Given the description of an element on the screen output the (x, y) to click on. 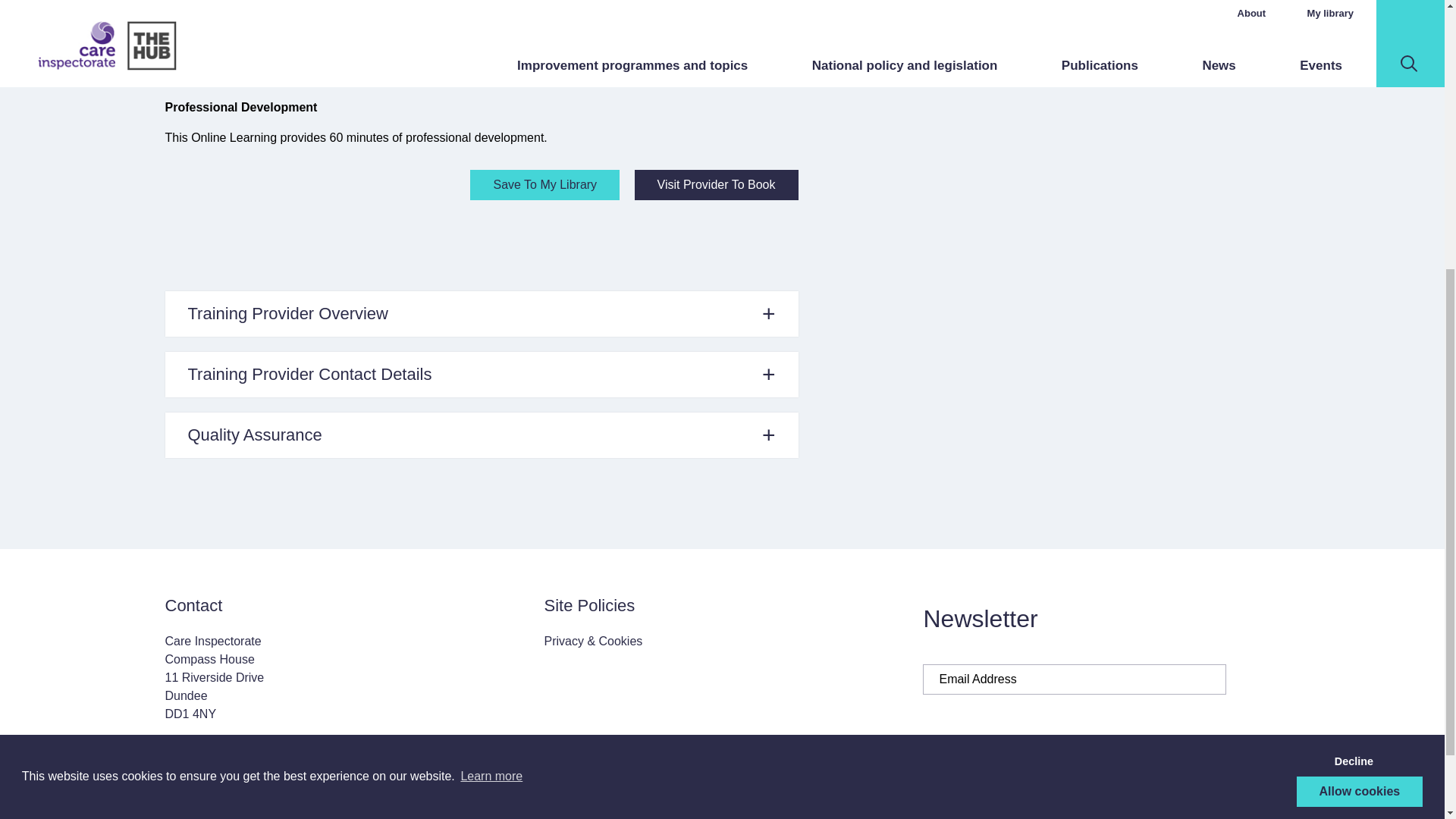
Site Policies (588, 605)
Learn more (491, 340)
Allow cookies (1360, 355)
Save To My Library (545, 184)
Visit Provider To Book (715, 184)
Decline (1353, 325)
